Given the description of an element on the screen output the (x, y) to click on. 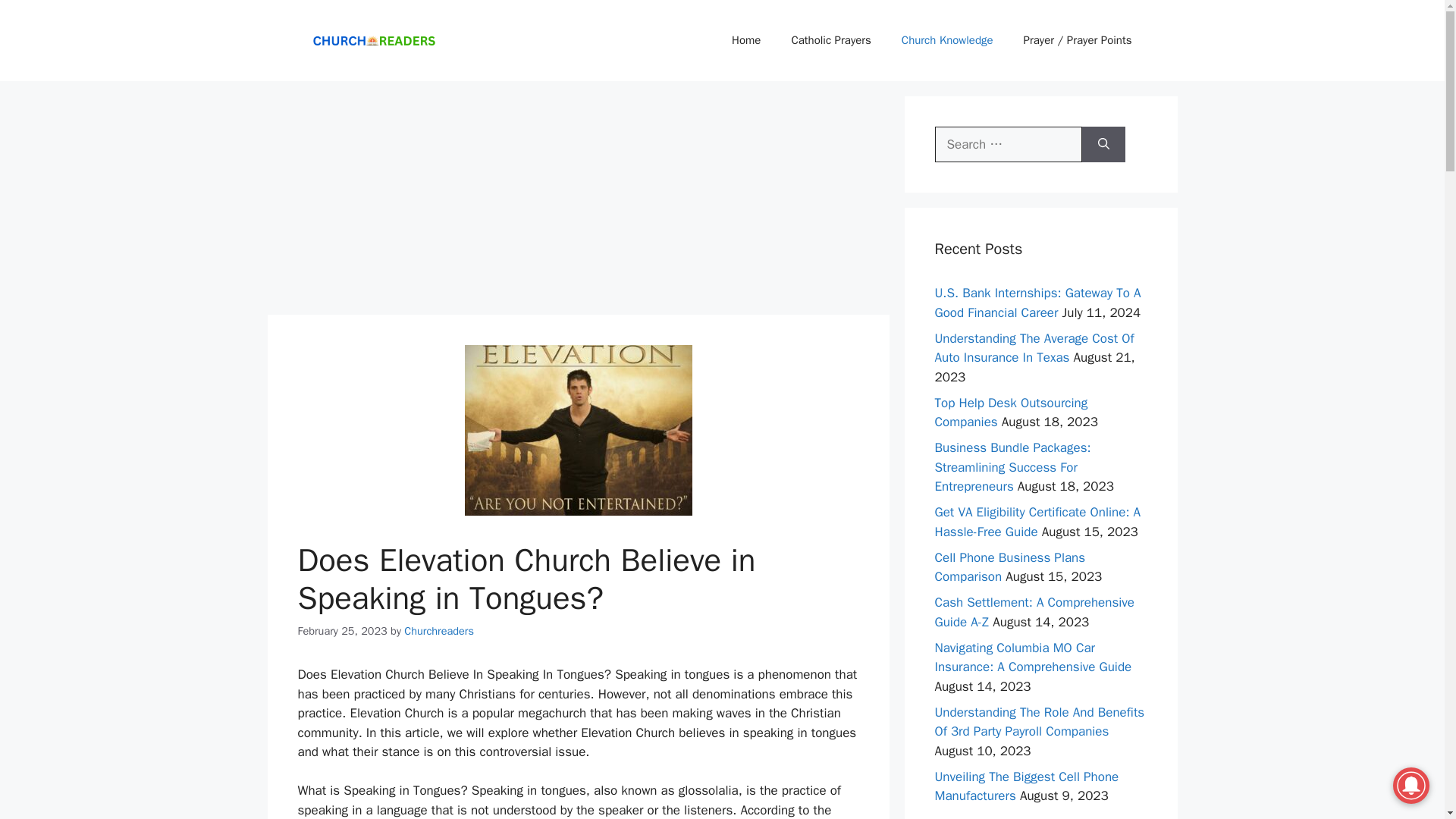
Church Knowledge (947, 40)
Catholic Prayers (830, 40)
Navigating Columbia MO Car Insurance: A Comprehensive Guide (1032, 657)
Cash Settlement: A Comprehensive Guide A-Z (1034, 611)
Cell Phone Business Plans Comparison (1009, 567)
Understanding The Average Cost Of Auto Insurance In Texas (1034, 348)
Top Help Desk Outsourcing Companies (1010, 412)
U.S. Bank Internships: Gateway To A Good Financial Career (1037, 303)
Home (746, 40)
